Given the description of an element on the screen output the (x, y) to click on. 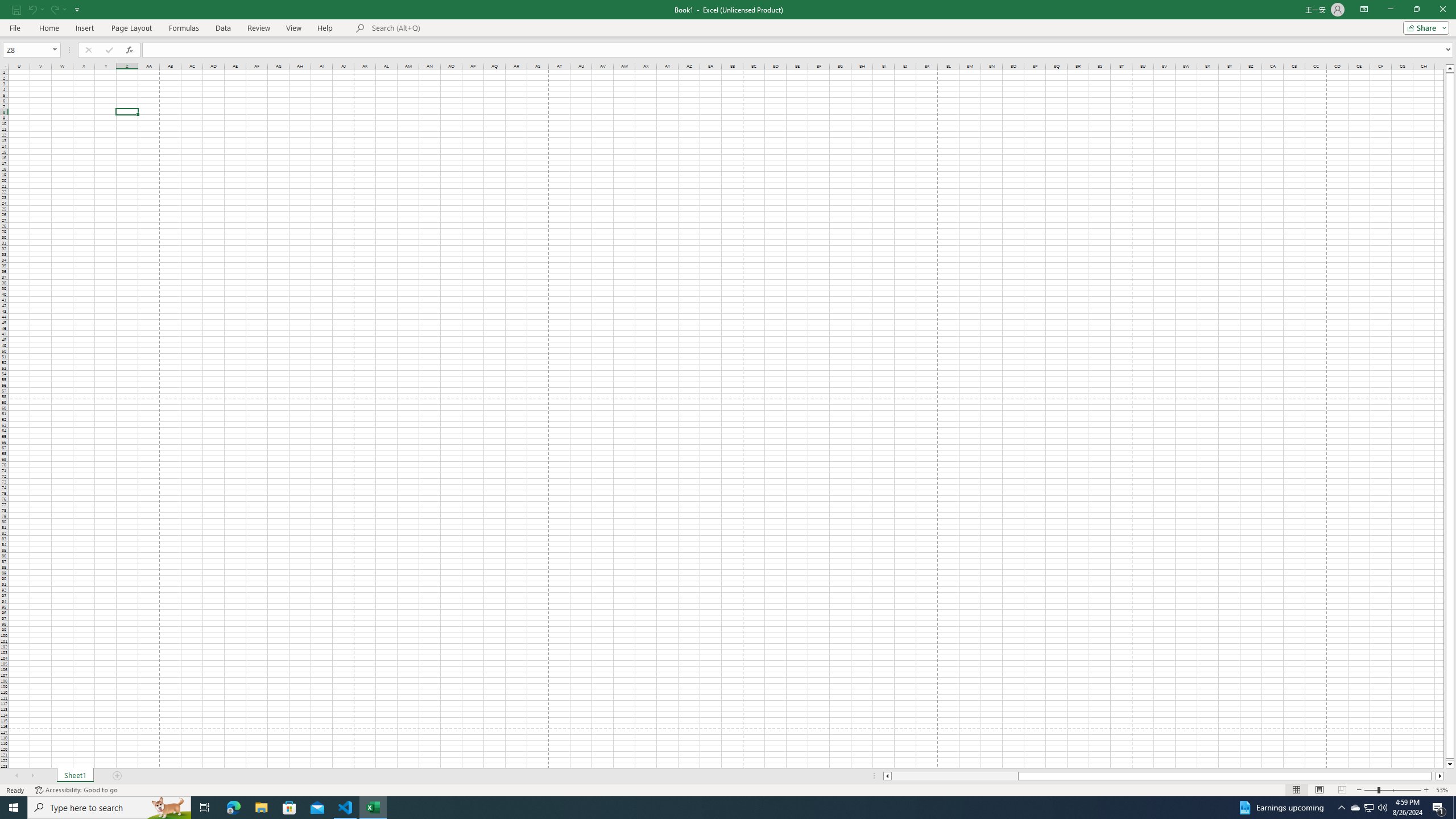
Microsoft search (450, 28)
Class: MsoCommandBar (728, 18)
